Given the description of an element on the screen output the (x, y) to click on. 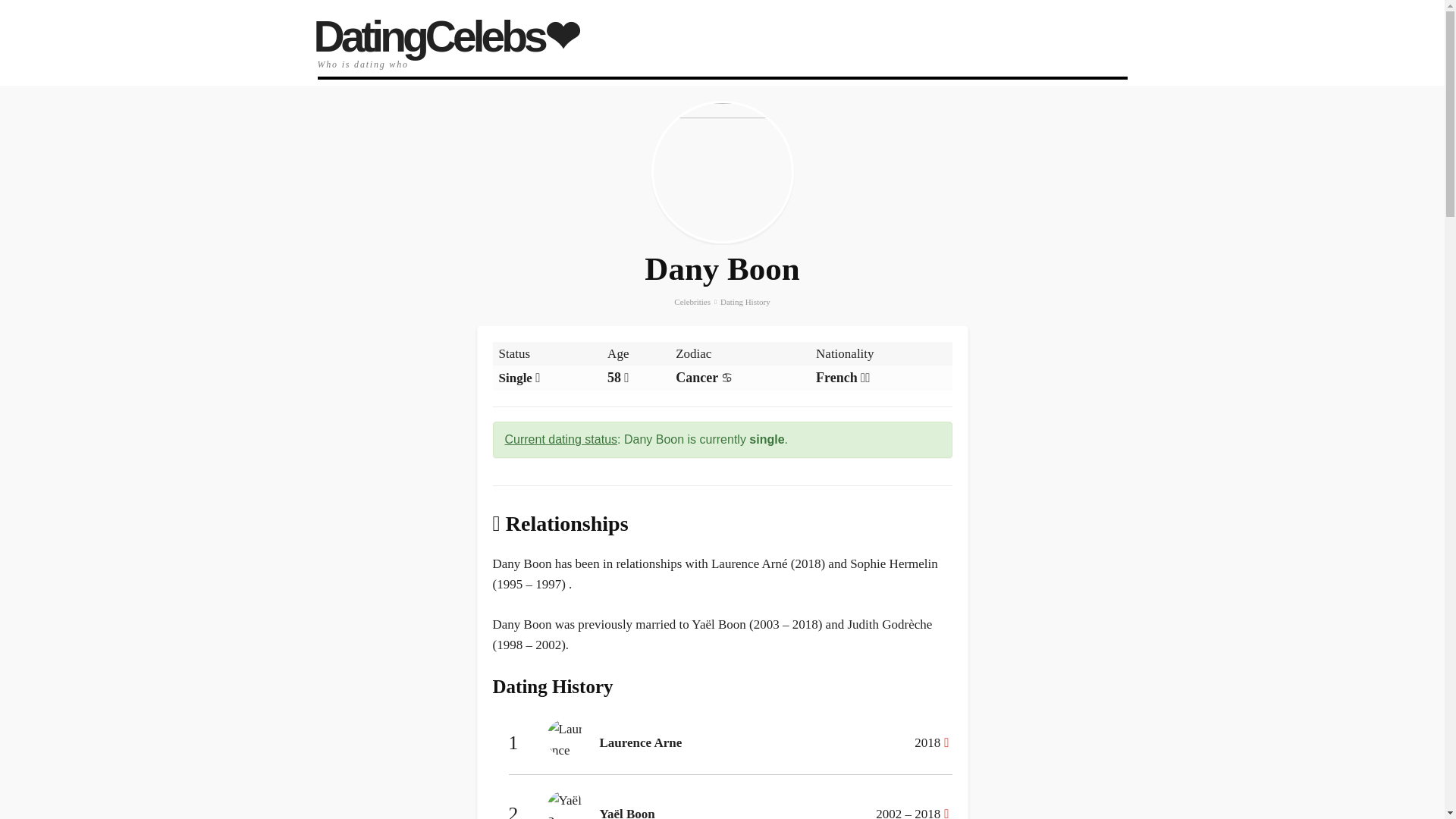
Dating History (745, 301)
View all posts in Dating History (745, 301)
Celebrities (692, 301)
